Given the description of an element on the screen output the (x, y) to click on. 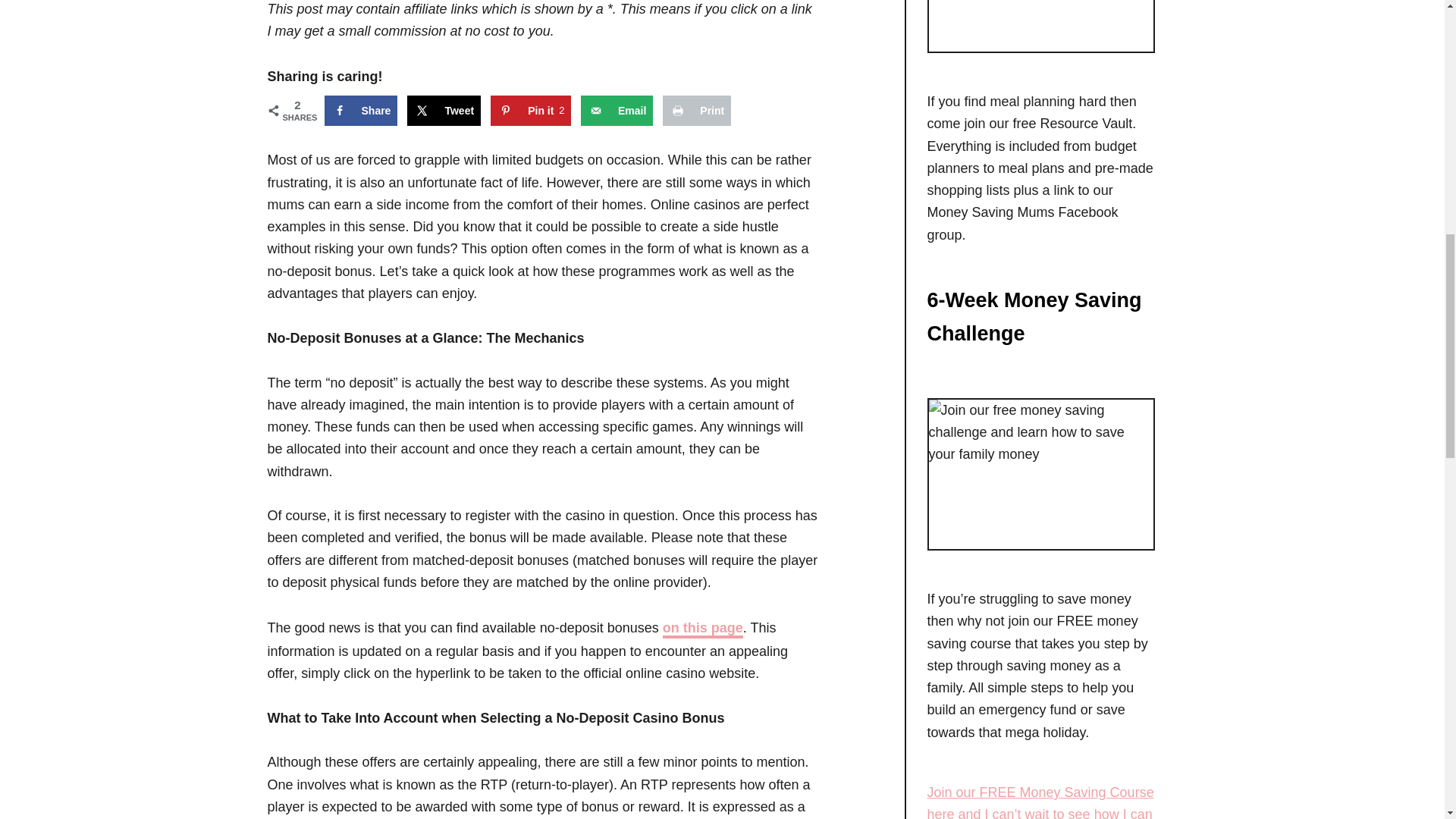
Send over email (616, 110)
Save to Pinterest (530, 110)
Share on X (443, 110)
Print this webpage (696, 110)
Tweet (443, 110)
Email (530, 110)
Share (616, 110)
Print (360, 110)
Share on Facebook (696, 110)
on this page (360, 110)
